Given the description of an element on the screen output the (x, y) to click on. 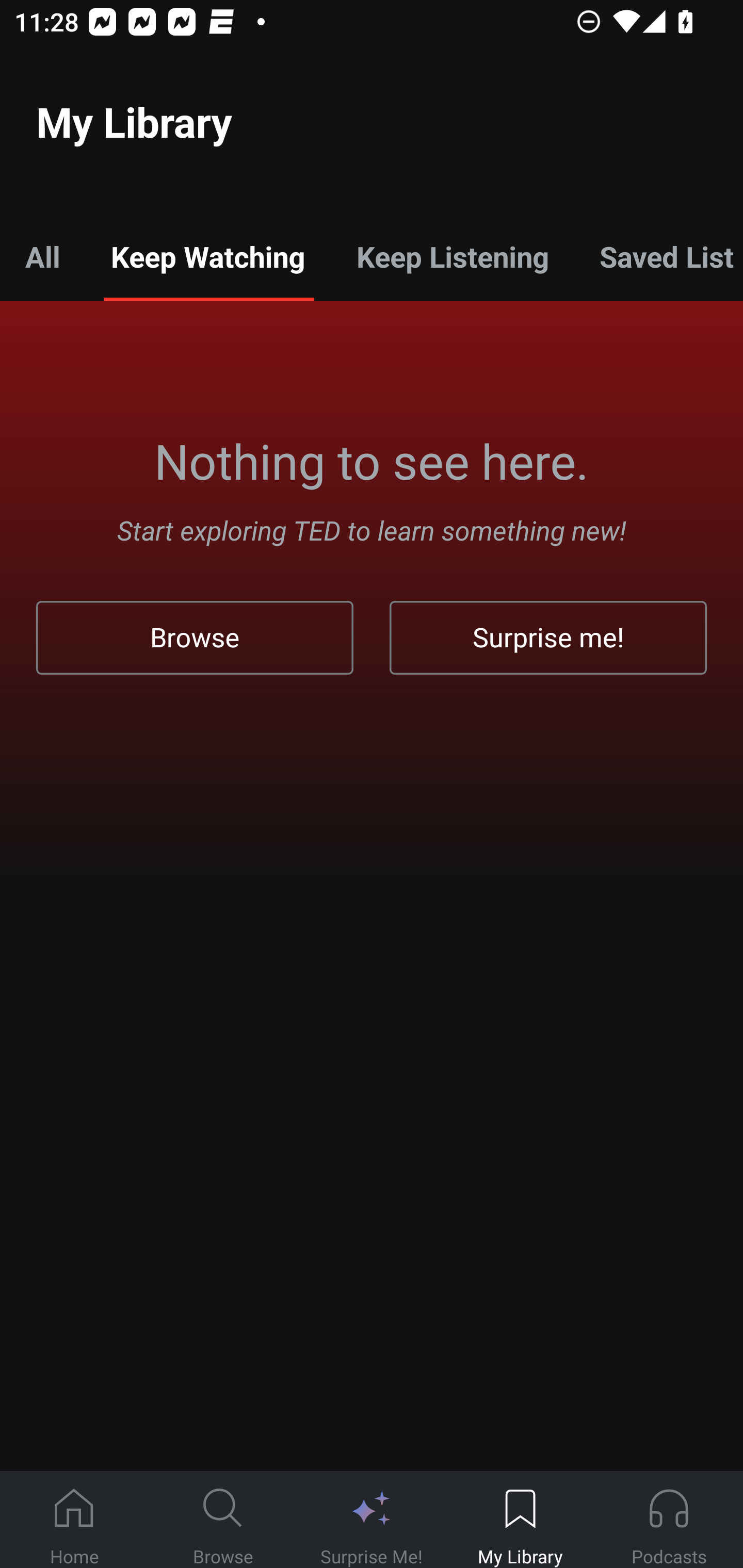
All (42, 256)
Keep Watching (207, 256)
Keep Listening (452, 256)
Saved List (658, 256)
Browse (194, 637)
Surprise me! (547, 637)
Home (74, 1520)
Browse (222, 1520)
Surprise Me! (371, 1520)
My Library (519, 1520)
Podcasts (668, 1520)
